Given the description of an element on the screen output the (x, y) to click on. 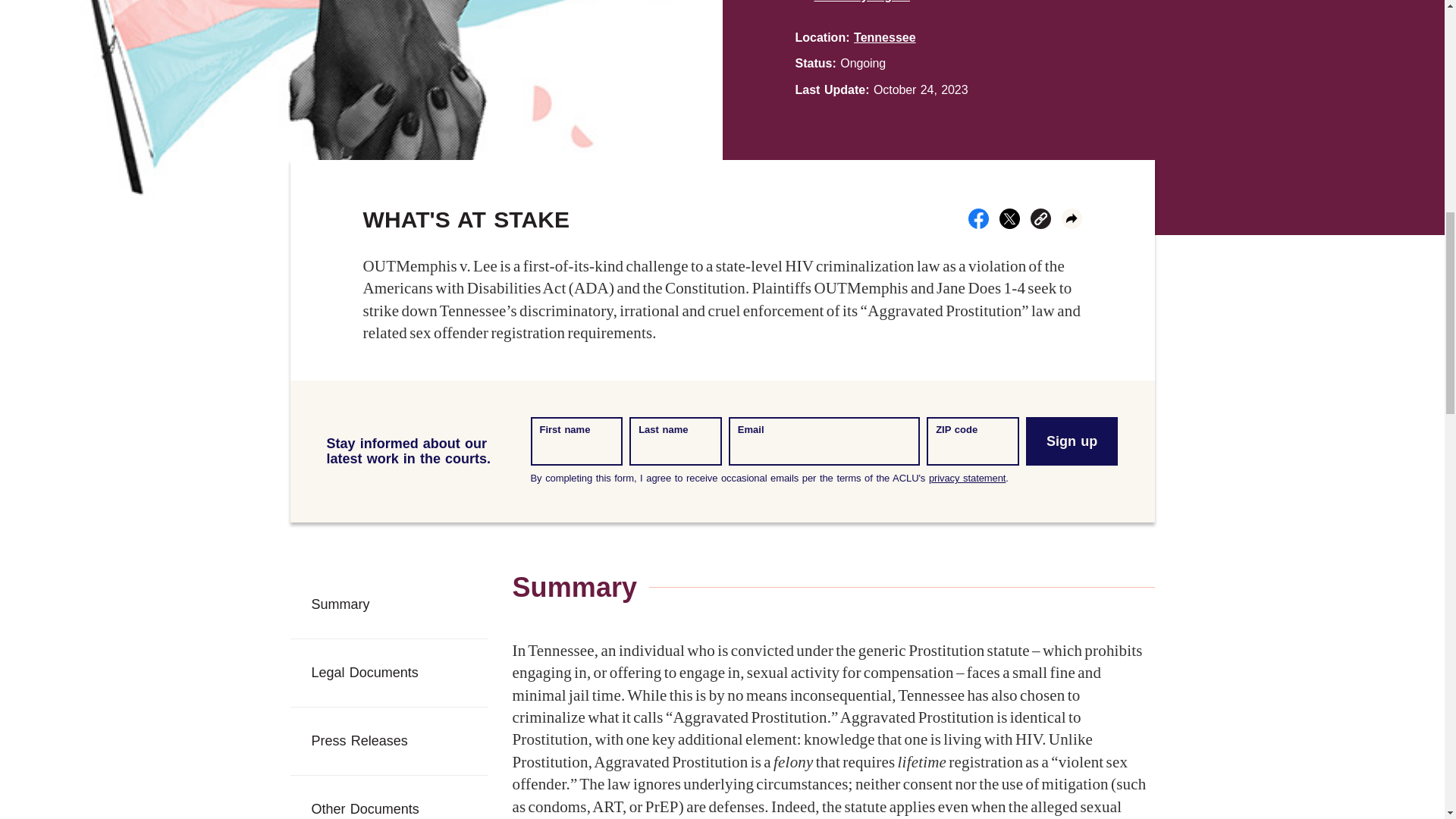
Press Releases (388, 740)
Summary (388, 604)
Other Documents (388, 797)
Legal Documents (388, 672)
